Given the description of an element on the screen output the (x, y) to click on. 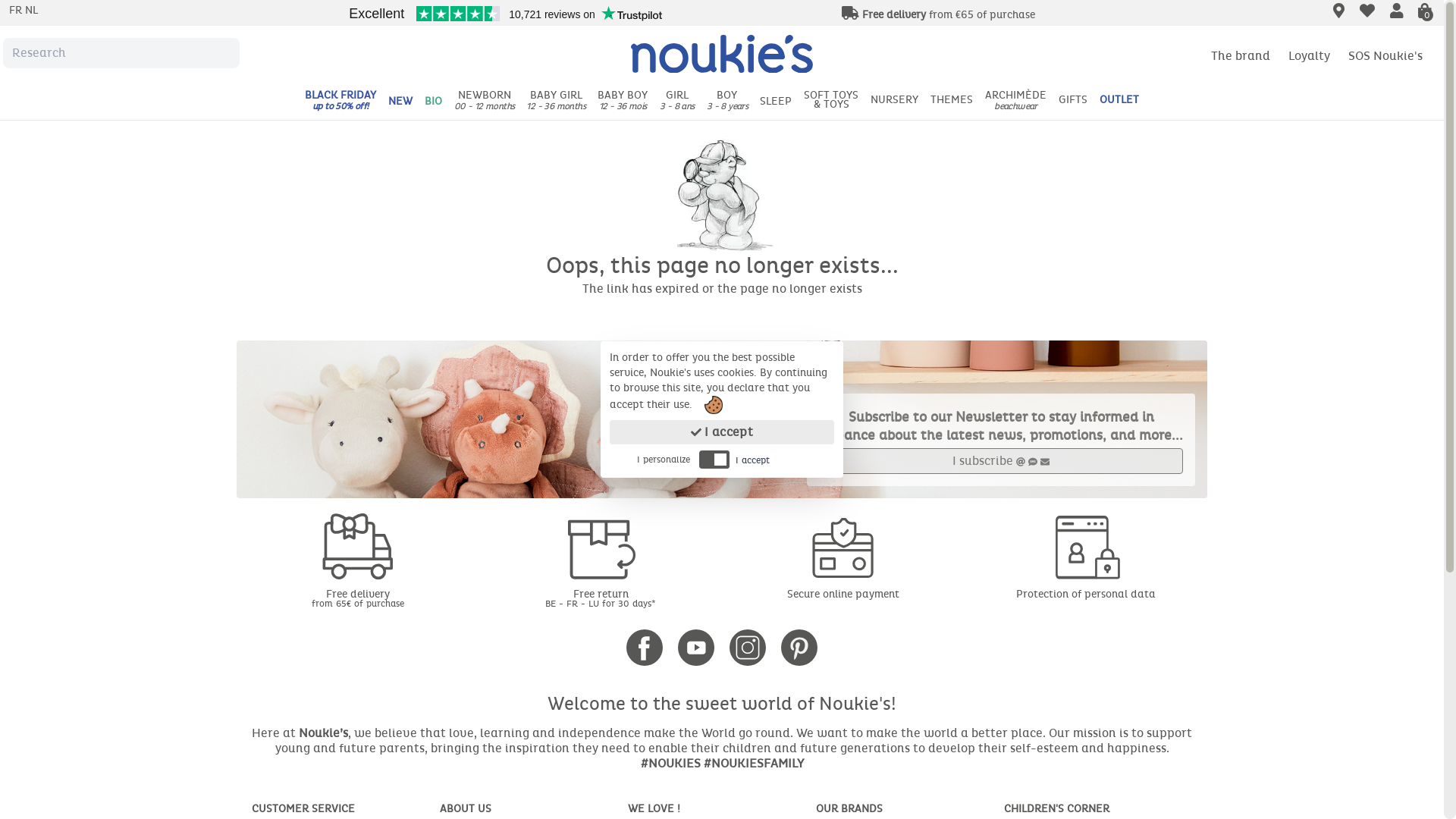
NL Element type: text (31, 9)
NEW Element type: text (400, 100)
FR Element type: text (17, 9)
SOFT TOYS
& TOYS Element type: text (830, 100)
GIRL
3 - 8 ans Element type: text (676, 100)
Free return
BE - FR - LU for 30 days* Element type: text (600, 597)
GIFTS Element type: text (1072, 100)
OUTLET Element type: text (1119, 100)
The brand Element type: text (1240, 56)
Noukie's Element type: text (722, 53)
NURSERY Element type: text (894, 100)
Loyalty Element type: text (1309, 56)
Secure online payment Element type: text (893, 593)
SLEEP Element type: text (775, 100)
BIO Element type: text (433, 100)
BLACK FRIDAY
up to 50% off! Element type: text (340, 100)
NEWBORN
00 - 12 months Element type: text (484, 100)
BOY
3 - 8 years Element type: text (726, 100)
SOS Noukie's Element type: text (1385, 56)
BABY BOY
12 - 36 mois Element type: text (622, 100)
THEMES Element type: text (951, 100)
Protection of personal data Element type: text (1122, 593)
BABY GIRL
12 - 36 months Element type: text (555, 100)
Customer reviews powered by Trustpilot Element type: hover (504, 13)
